Given the description of an element on the screen output the (x, y) to click on. 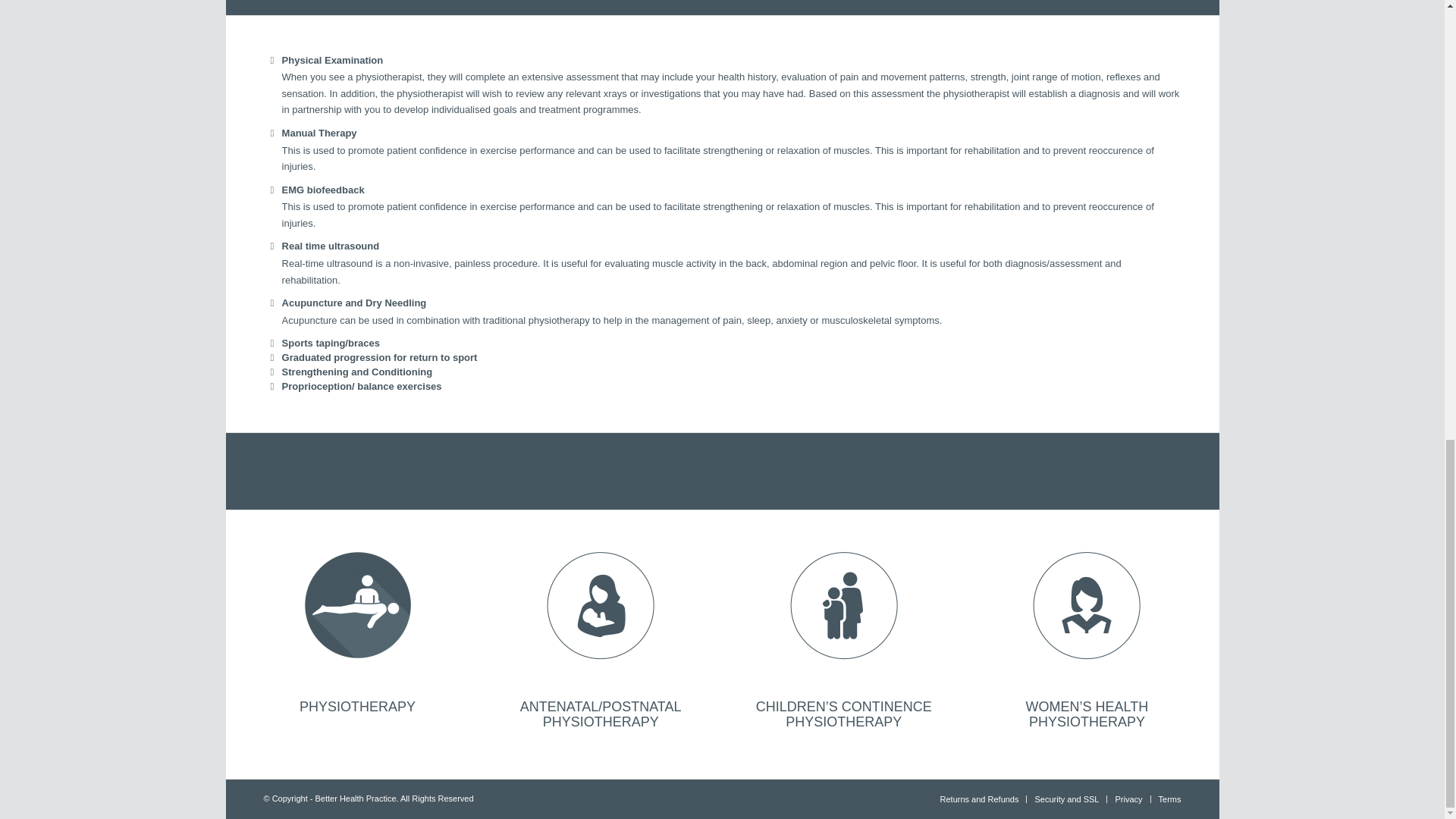
antenatal-postnatal-icon (600, 604)
Better Health Practice Physiotheraphy (357, 604)
childrens-icon (844, 604)
